Given the description of an element on the screen output the (x, y) to click on. 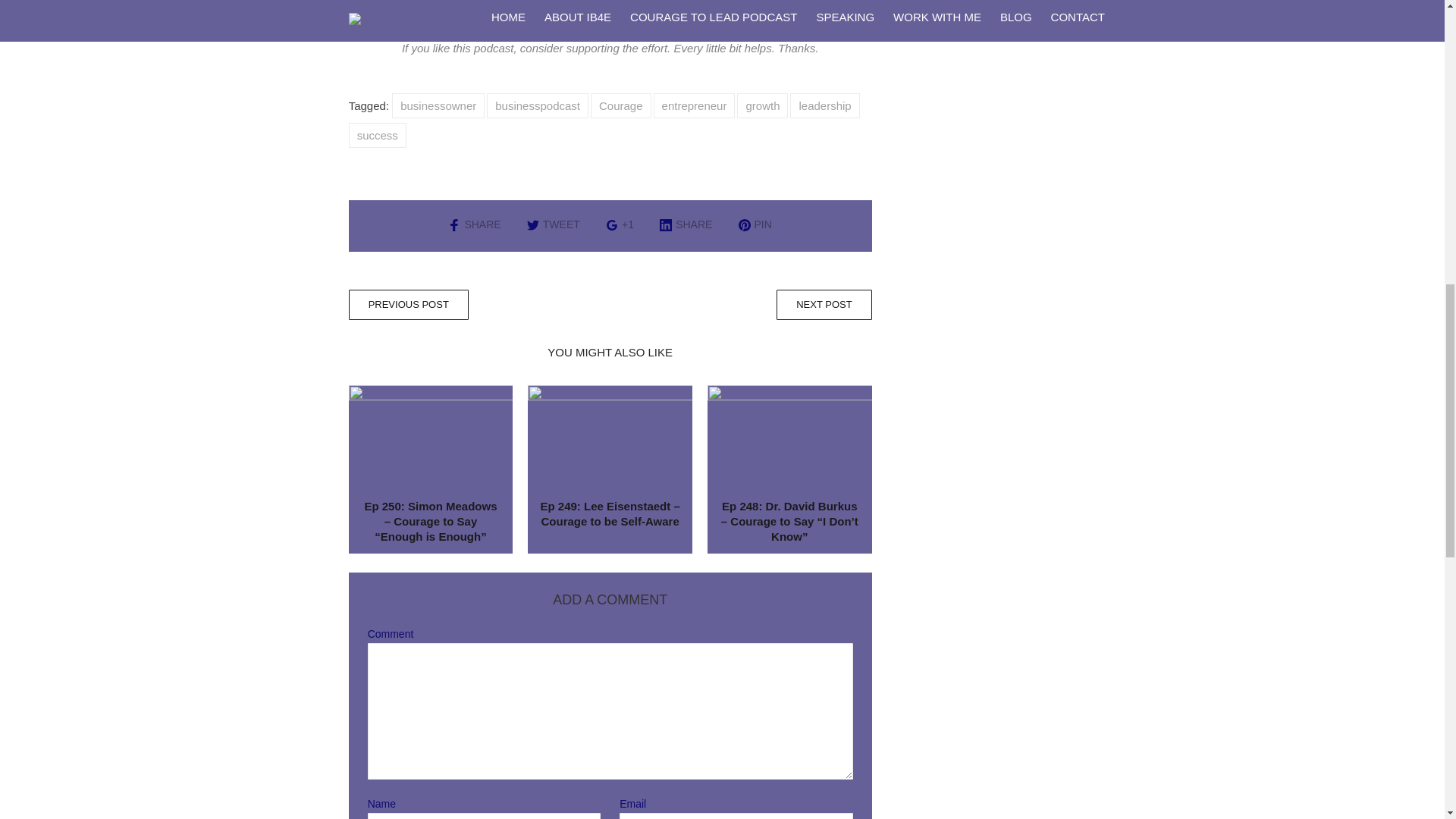
Courage (620, 105)
businesspodcast (537, 105)
entrepreneur (694, 105)
growth (761, 105)
leadership (824, 105)
PIN (754, 224)
TWEET (553, 224)
SHARE (474, 224)
PREVIOUS POST (408, 304)
SHARE (685, 224)
